Given the description of an element on the screen output the (x, y) to click on. 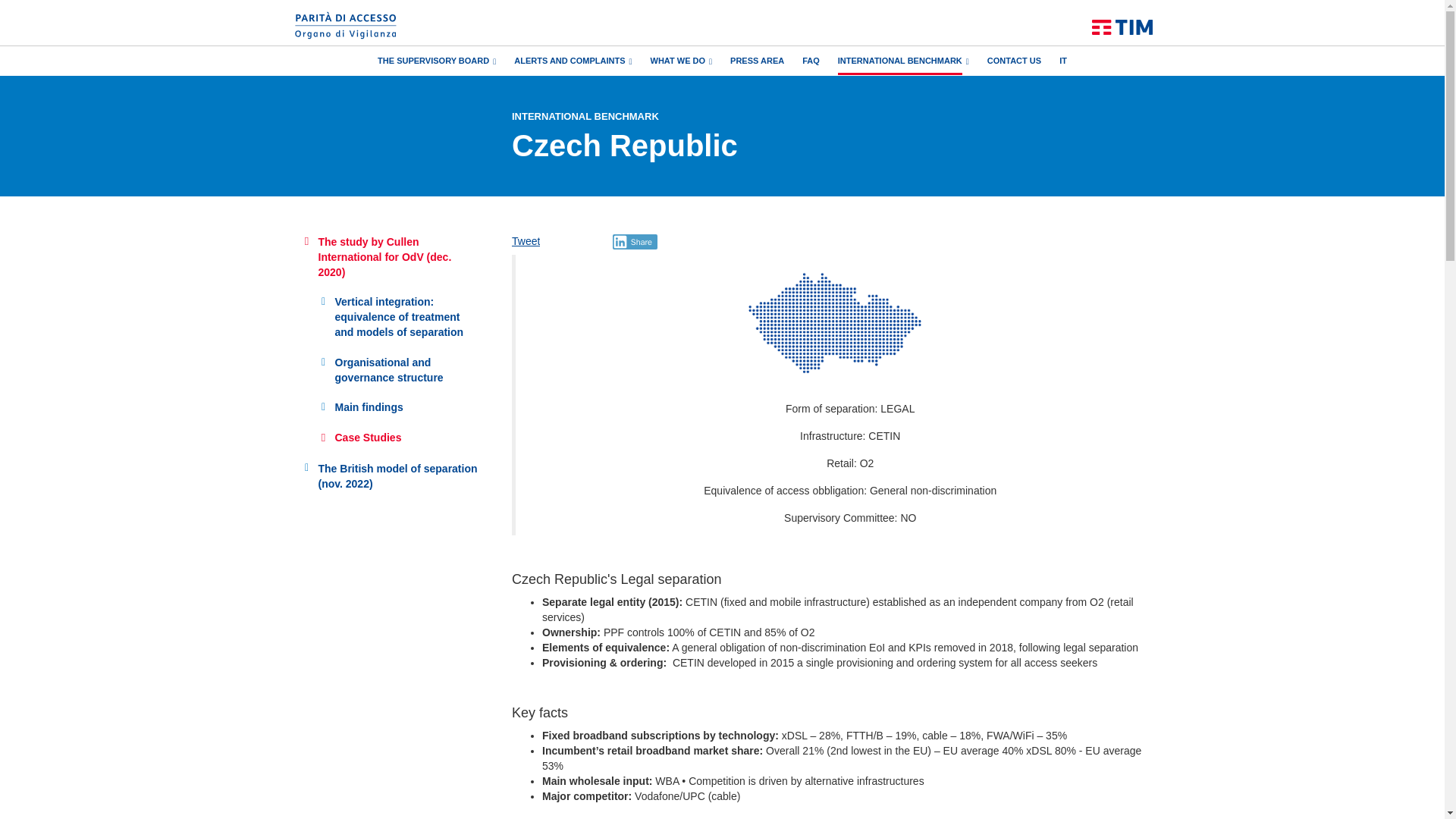
ALERTS AND COMPLAINTS (572, 59)
Home (345, 18)
THE SUPERVISORY BOARD (436, 59)
INTERNATIONAL BENCHMARK (903, 59)
FAQ (810, 59)
Share (635, 241)
CONTACT US (1014, 59)
Organisational and governance structure (397, 370)
IT (1063, 59)
Main findings (397, 408)
PRESS AREA (757, 59)
WHAT WE DO (681, 59)
Home (1122, 27)
Tweet (526, 241)
